Given the description of an element on the screen output the (x, y) to click on. 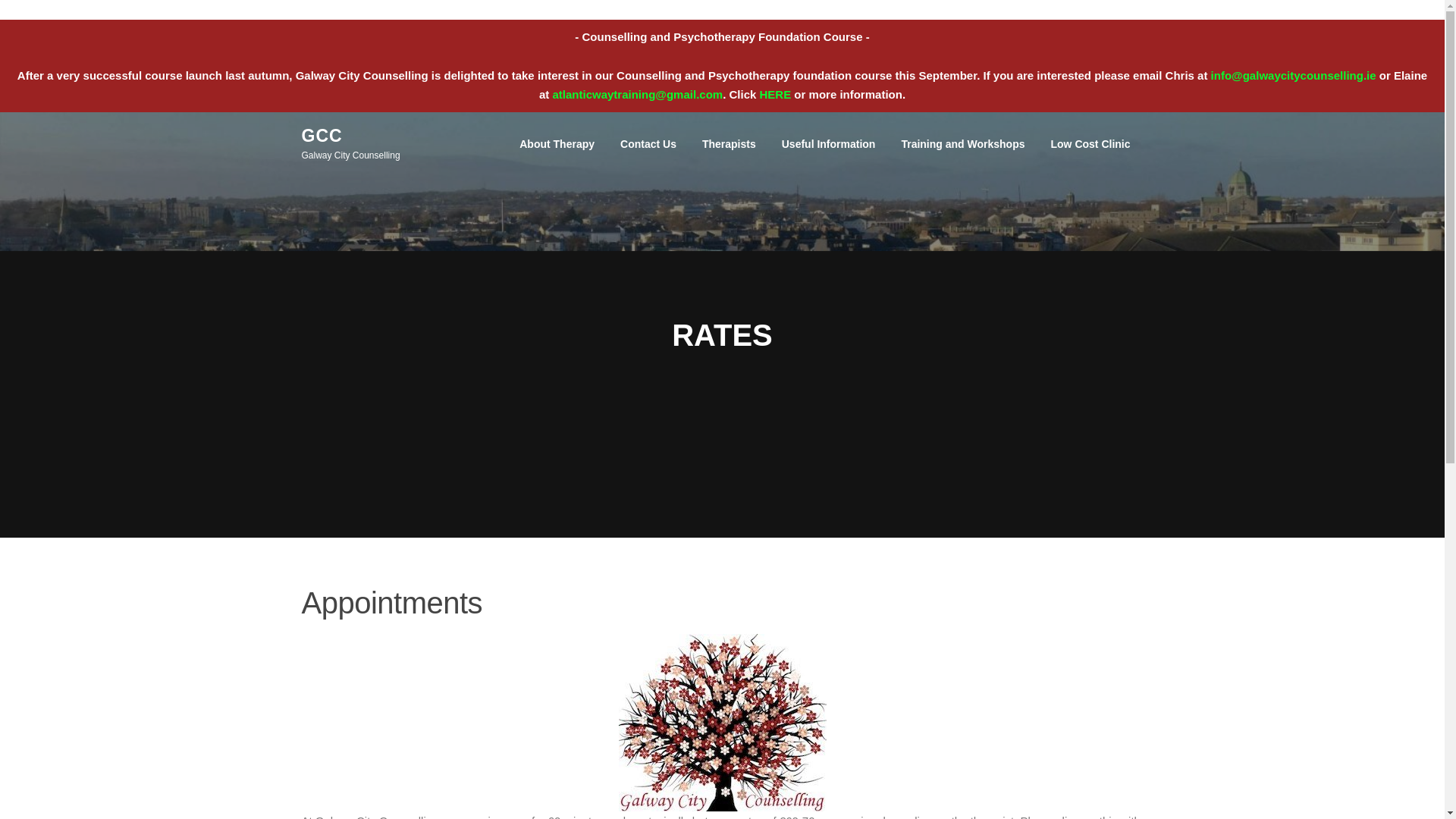
Contact Us (647, 144)
GCC (321, 135)
HERE (776, 93)
Useful Information (828, 144)
Low Cost Clinic (1089, 144)
Therapists (728, 144)
About Therapy (556, 144)
Training and Workshops (962, 144)
